Given the description of an element on the screen output the (x, y) to click on. 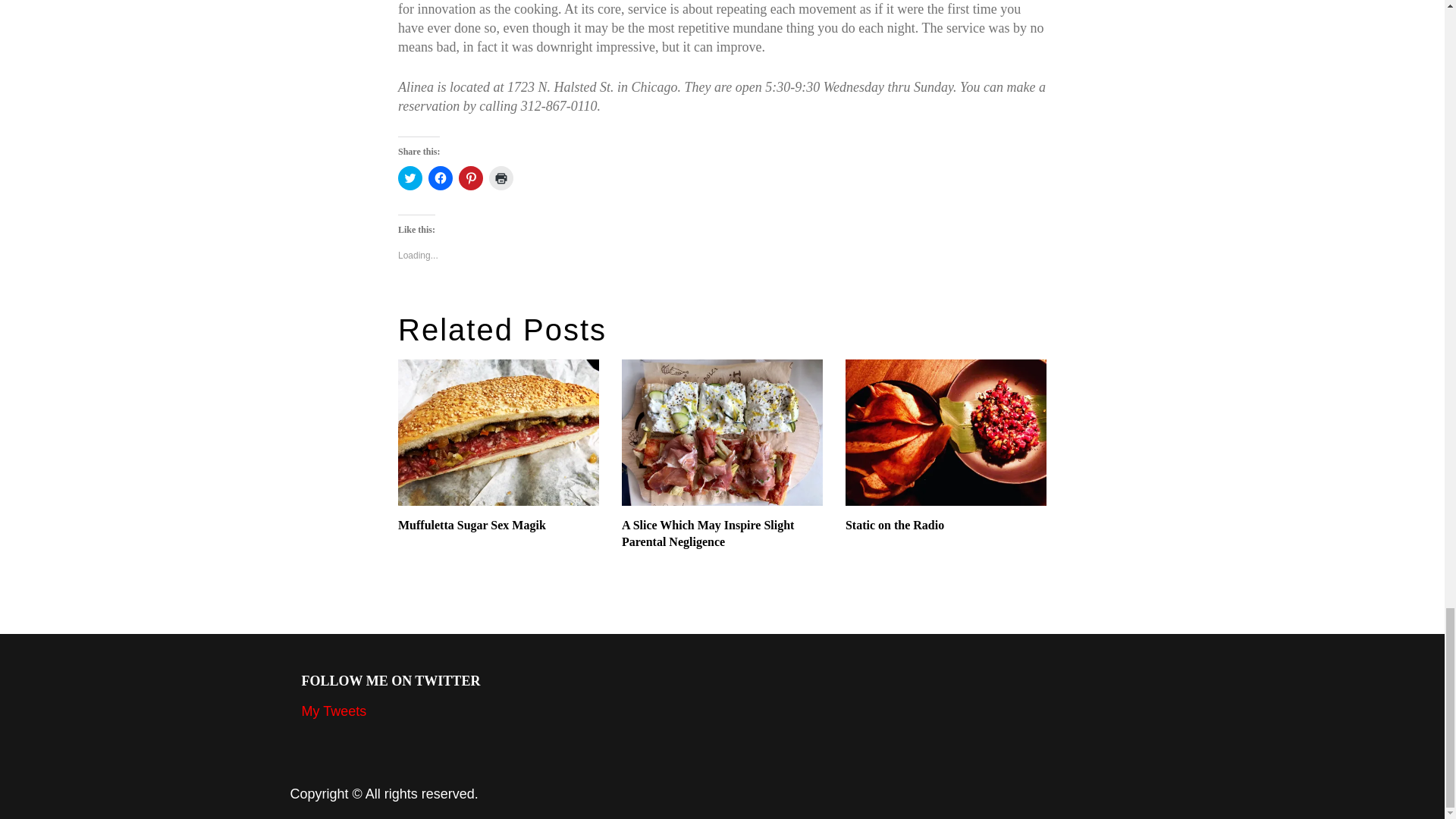
Click to share on Twitter (409, 178)
Click to print (501, 178)
A Slice Which May Inspire Slight Parental Negligence (721, 533)
Click to share on Facebook (440, 178)
Static on the Radio (945, 524)
Click to share on Pinterest (470, 178)
Muffuletta Sugar Sex Magik (497, 524)
